Given the description of an element on the screen output the (x, y) to click on. 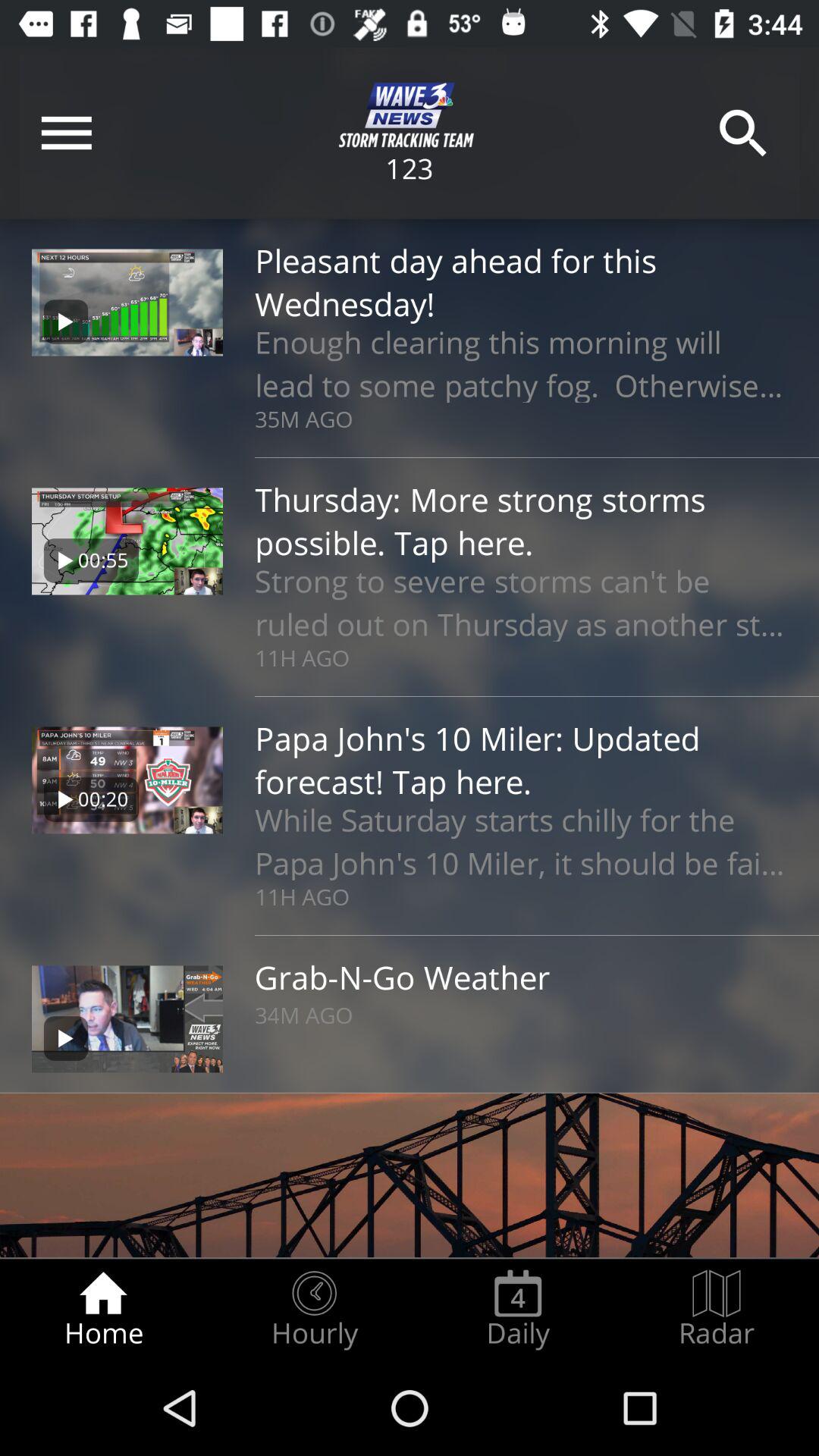
turn on the radio button to the right of home icon (314, 1309)
